Given the description of an element on the screen output the (x, y) to click on. 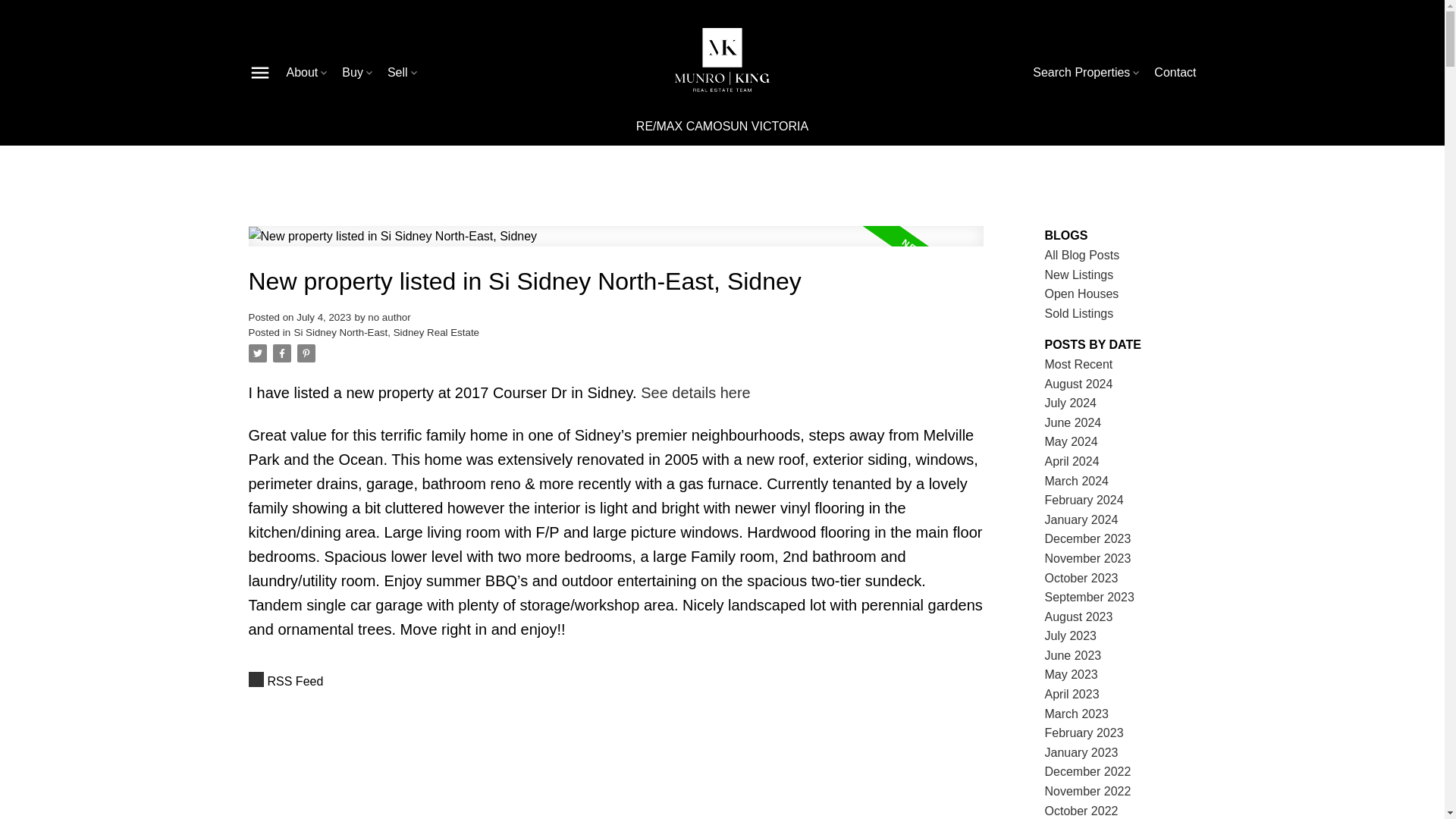
Sell (403, 72)
All Blog Posts (1082, 254)
March 2024 (1077, 481)
November 2023 (1088, 558)
Buy (358, 72)
Contact (1174, 72)
About (308, 72)
Most Recent (1079, 364)
December 2023 (1088, 538)
June 2024 (1073, 422)
August 2024 (1079, 383)
February 2024 (1084, 499)
July 2024 (1071, 402)
October 2023 (1081, 577)
January 2024 (1081, 519)
